Given the description of an element on the screen output the (x, y) to click on. 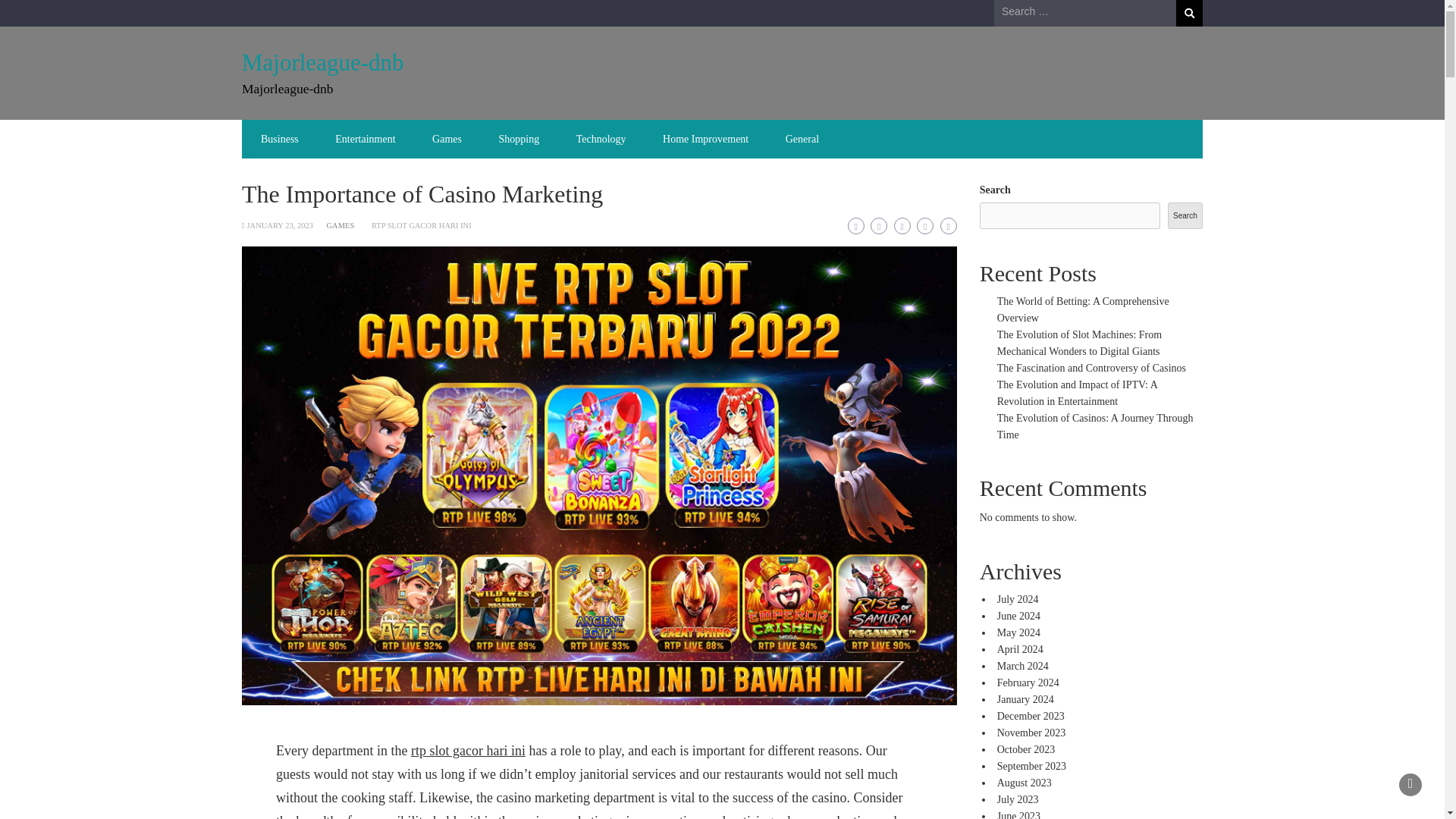
The Fascination and Controversy of Casinos (1091, 367)
Technology (601, 138)
Search (1189, 13)
Majorleague-dnb (322, 62)
RTP SLOT GACOR HARI INI (421, 225)
Shopping (518, 138)
Entertainment (365, 138)
Search (1189, 13)
Search for: (1085, 11)
The Evolution of Casinos: A Journey Through Time (1095, 426)
The World of Betting: A Comprehensive Overview (1083, 309)
Search (1189, 13)
rtp slot gacor hari ini (467, 750)
Home Improvement (704, 138)
